Given the description of an element on the screen output the (x, y) to click on. 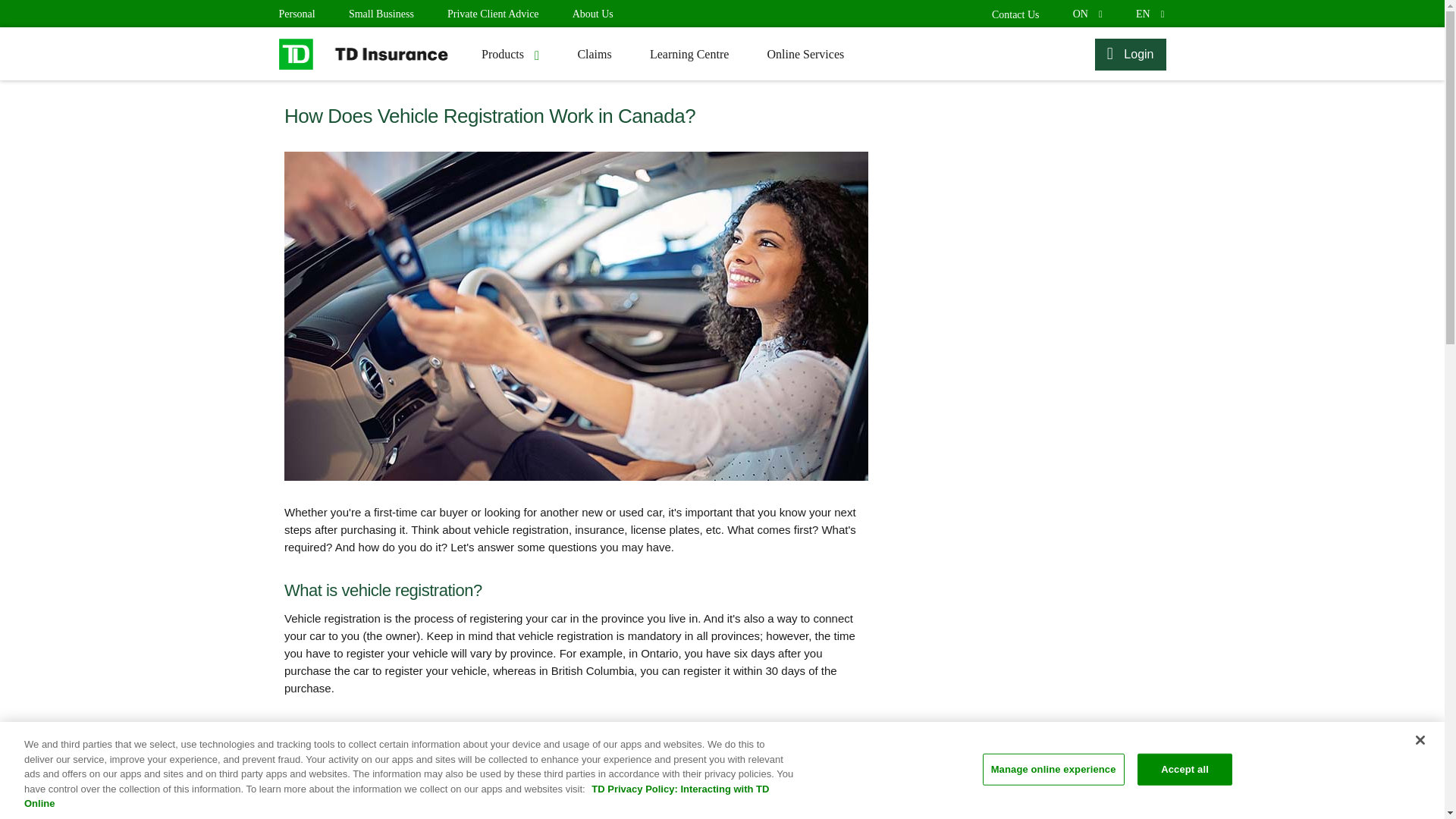
About Us (1148, 13)
Products (1088, 13)
Small Business (592, 13)
Private Client Advice (509, 53)
Contact Us (381, 13)
Skip to main content (492, 13)
Personal (1015, 14)
